Given the description of an element on the screen output the (x, y) to click on. 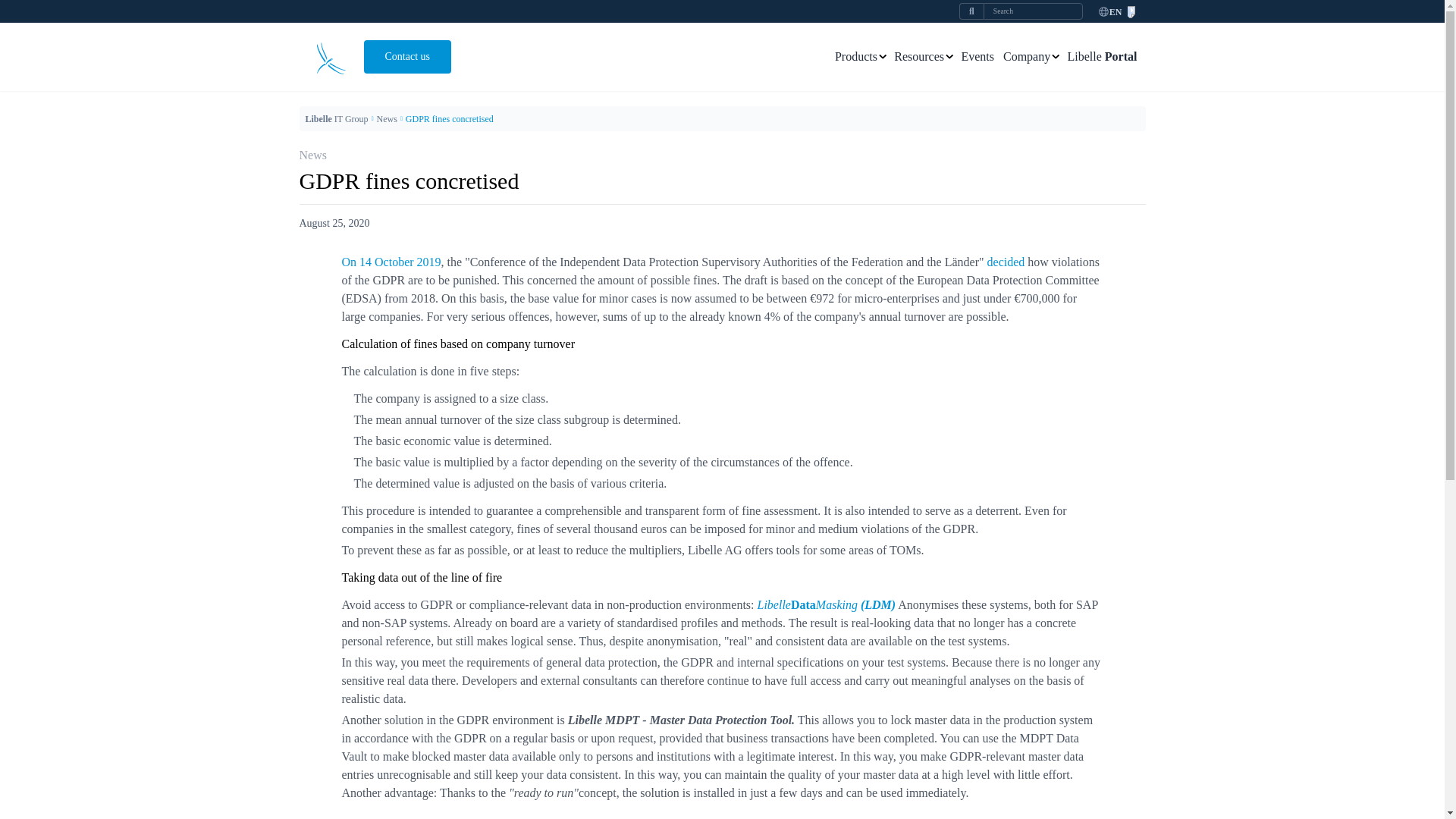
Libelle IT Group (336, 118)
On 14 October 2019 (390, 261)
decided (1006, 261)
Contact us (407, 56)
News (387, 118)
Libelle Portal (1102, 56)
